Given the description of an element on the screen output the (x, y) to click on. 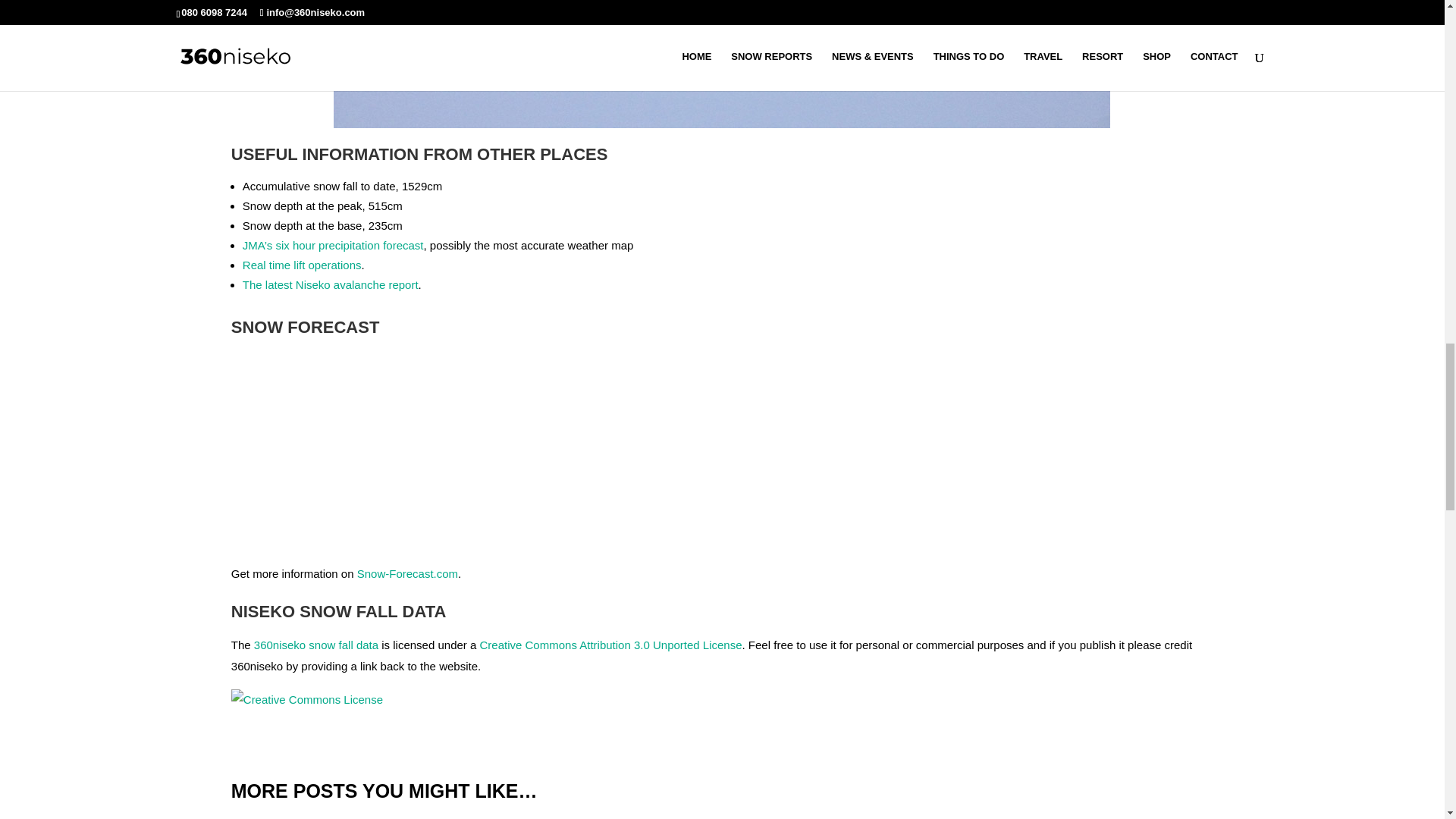
Niseko Avalanche Information, opens in a new window (331, 284)
Niseko United website, opens in a new window (302, 264)
360niseko snow fall data (315, 644)
Open's in a new window (407, 573)
Opens a Google Spread Sheet in a new window. (315, 644)
The latest Niseko avalanche report (331, 284)
Real time lift operations (302, 264)
Creative Commons Attribution 3.0 Unported License (611, 644)
Snow-Forecast.com (407, 573)
